Given the description of an element on the screen output the (x, y) to click on. 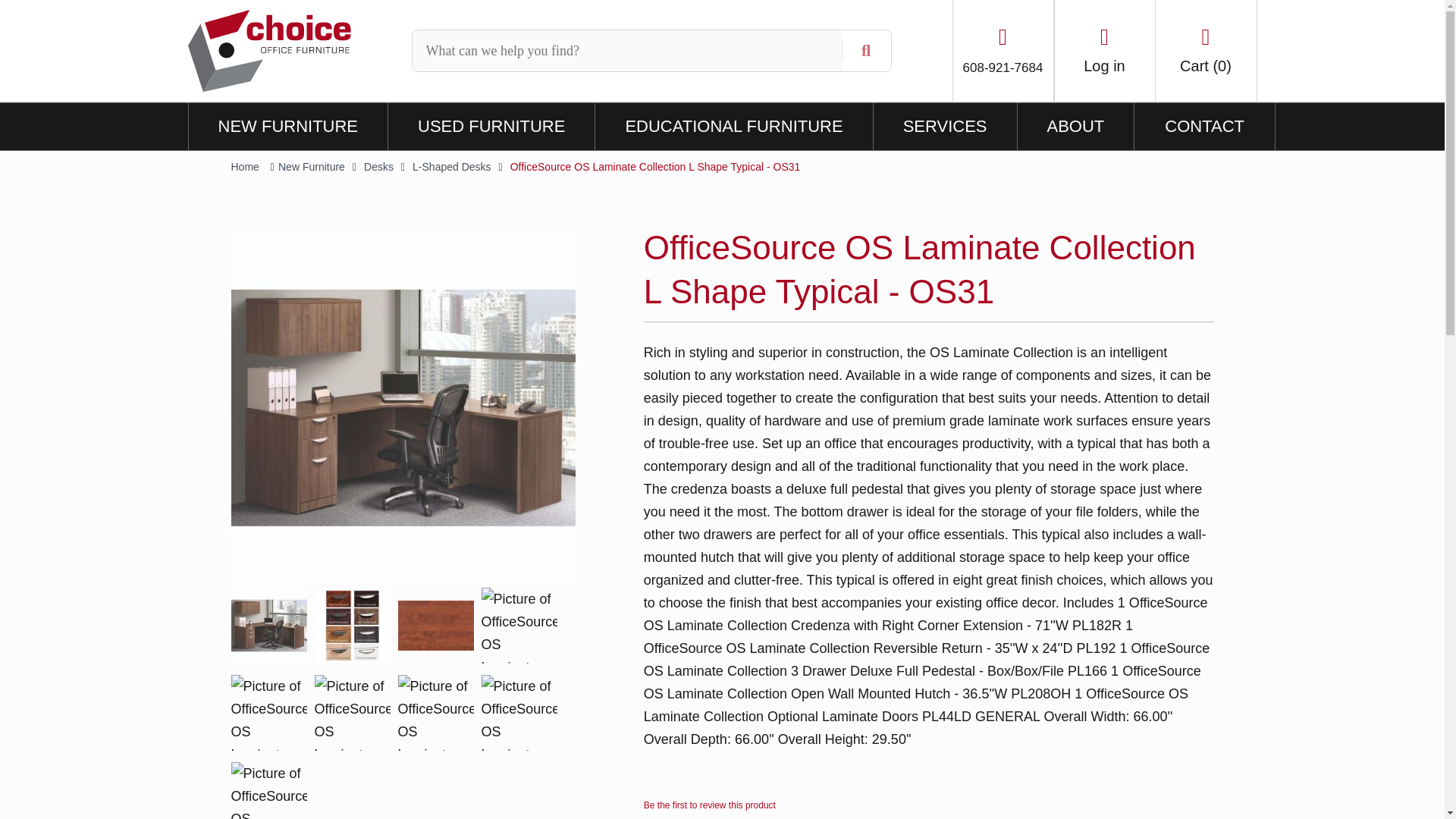
NEW FURNITURE (287, 126)
Log in (1104, 50)
608-921-7684 (1002, 50)
